Given the description of an element on the screen output the (x, y) to click on. 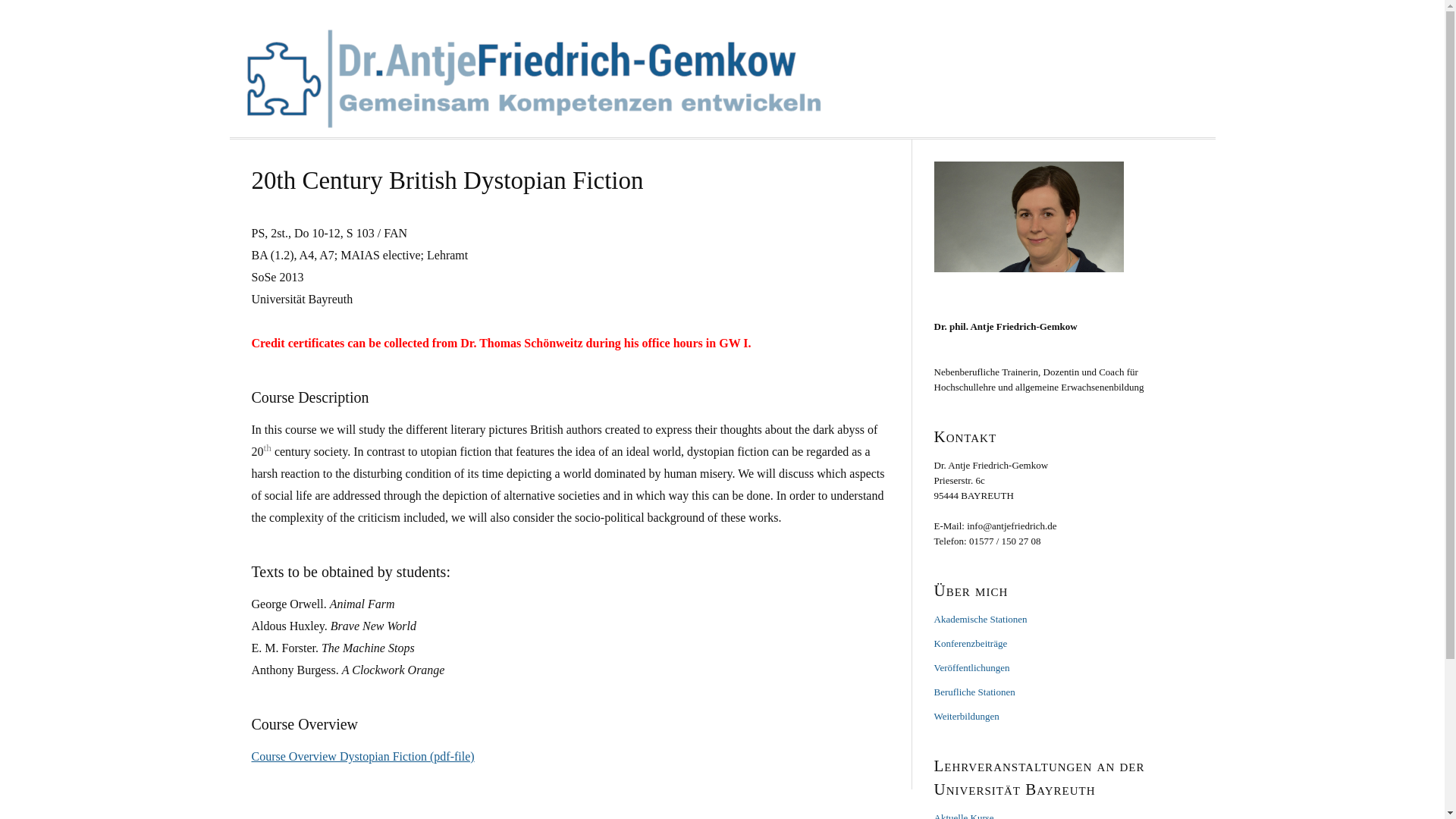
Alle aktuellen Kurse des laufenden Semesters (964, 815)
Akademische Stationen (980, 618)
Berufliche Stationen (974, 690)
Aktuelle Kurse (964, 815)
Weiterbildungen (966, 715)
